Given the description of an element on the screen output the (x, y) to click on. 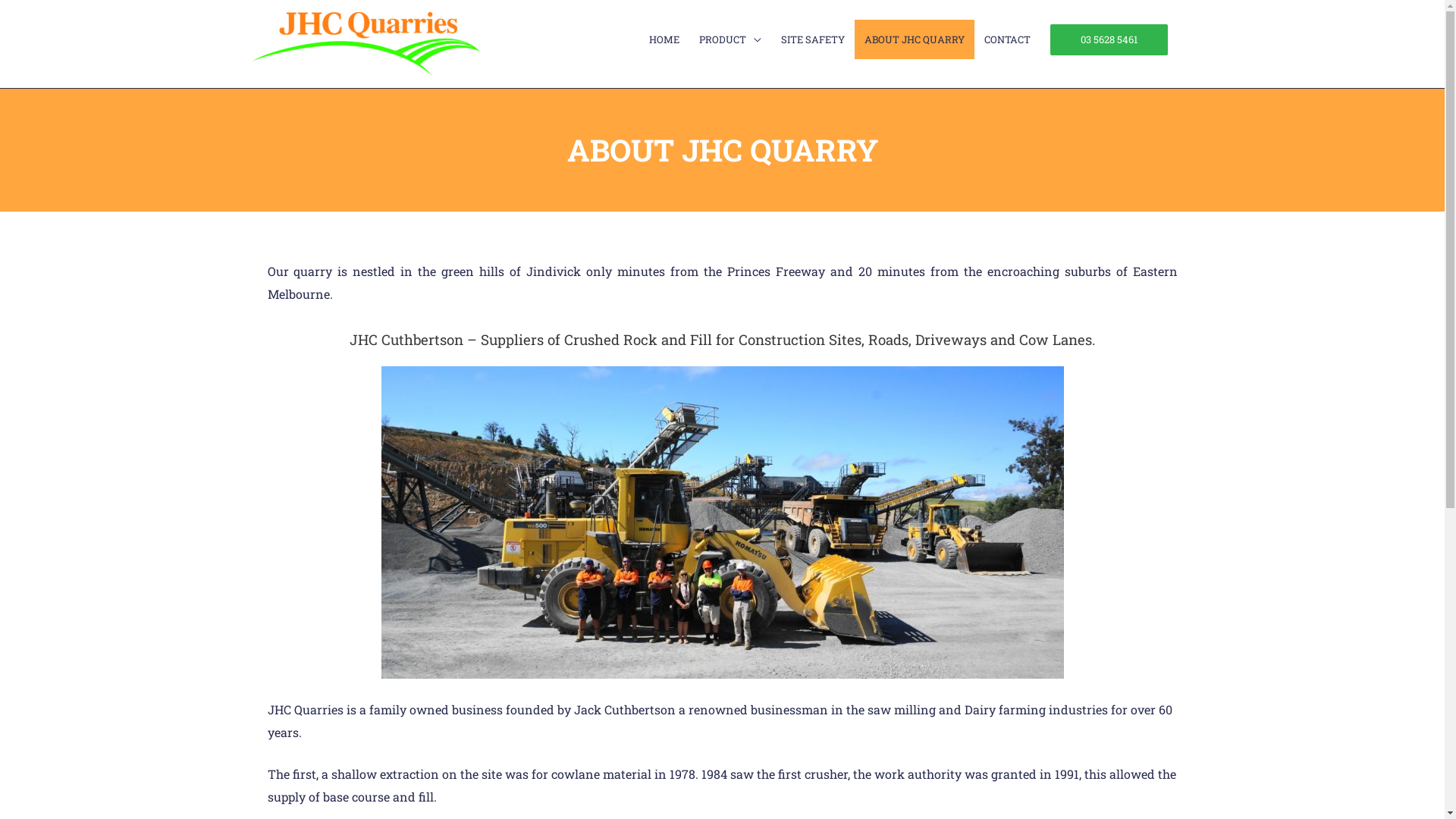
03 5628 5461 Element type: text (1108, 39)
PRODUCT Element type: text (729, 39)
CONTACT Element type: text (1006, 39)
ABOUT JHC QUARRY Element type: text (913, 39)
SITE SAFETY Element type: text (811, 39)
HOME Element type: text (663, 39)
